Given the description of an element on the screen output the (x, y) to click on. 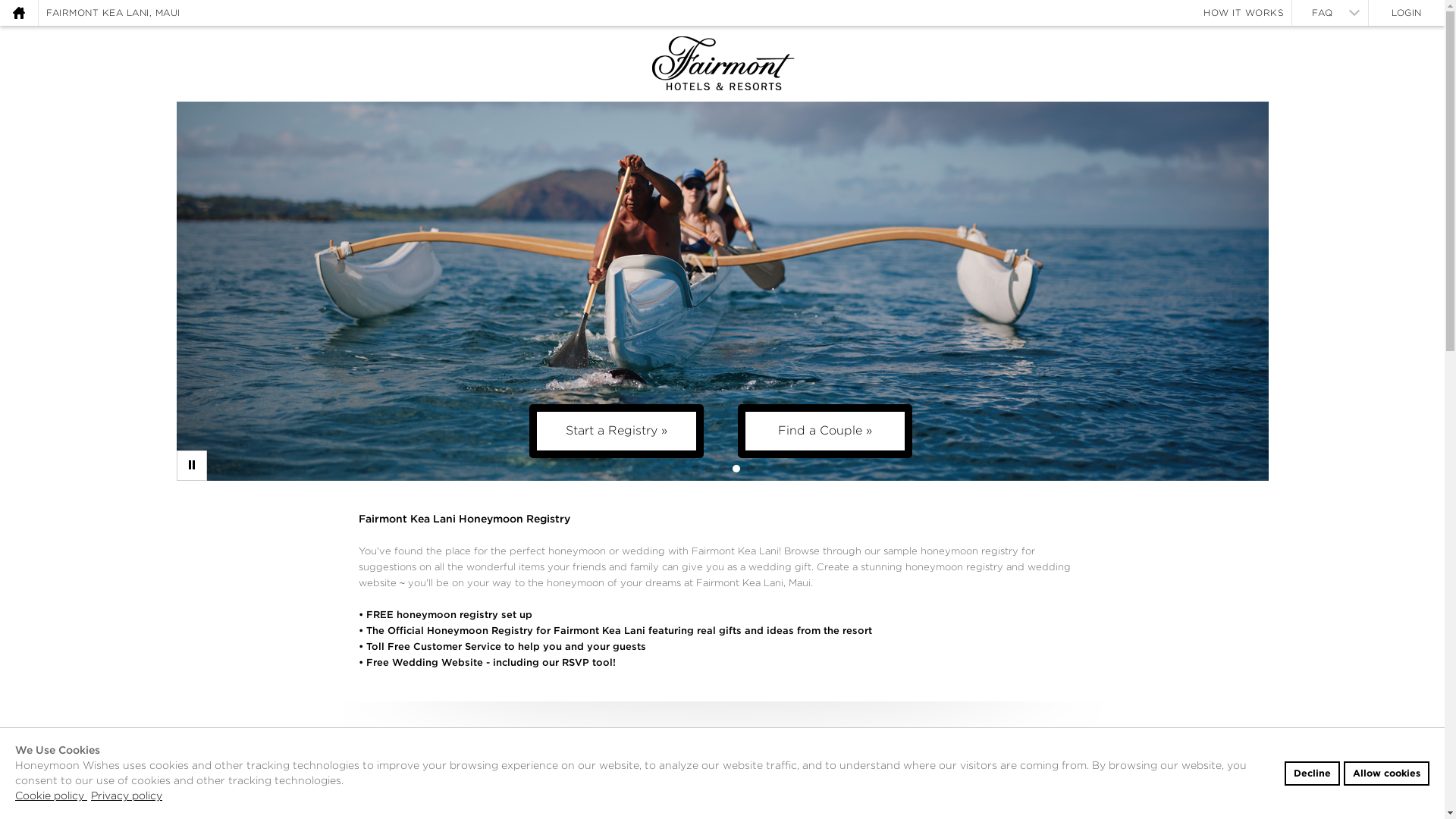
Decline (18, 12)
FAIRMONT KEA LANI, MAUI (1311, 773)
HOW IT WORKS (113, 12)
Privacy policy (1243, 12)
Cookie policy (125, 795)
HOME (50, 795)
FAQ (18, 12)
Homepage (1330, 12)
Allow cookies (18, 12)
